Given the description of an element on the screen output the (x, y) to click on. 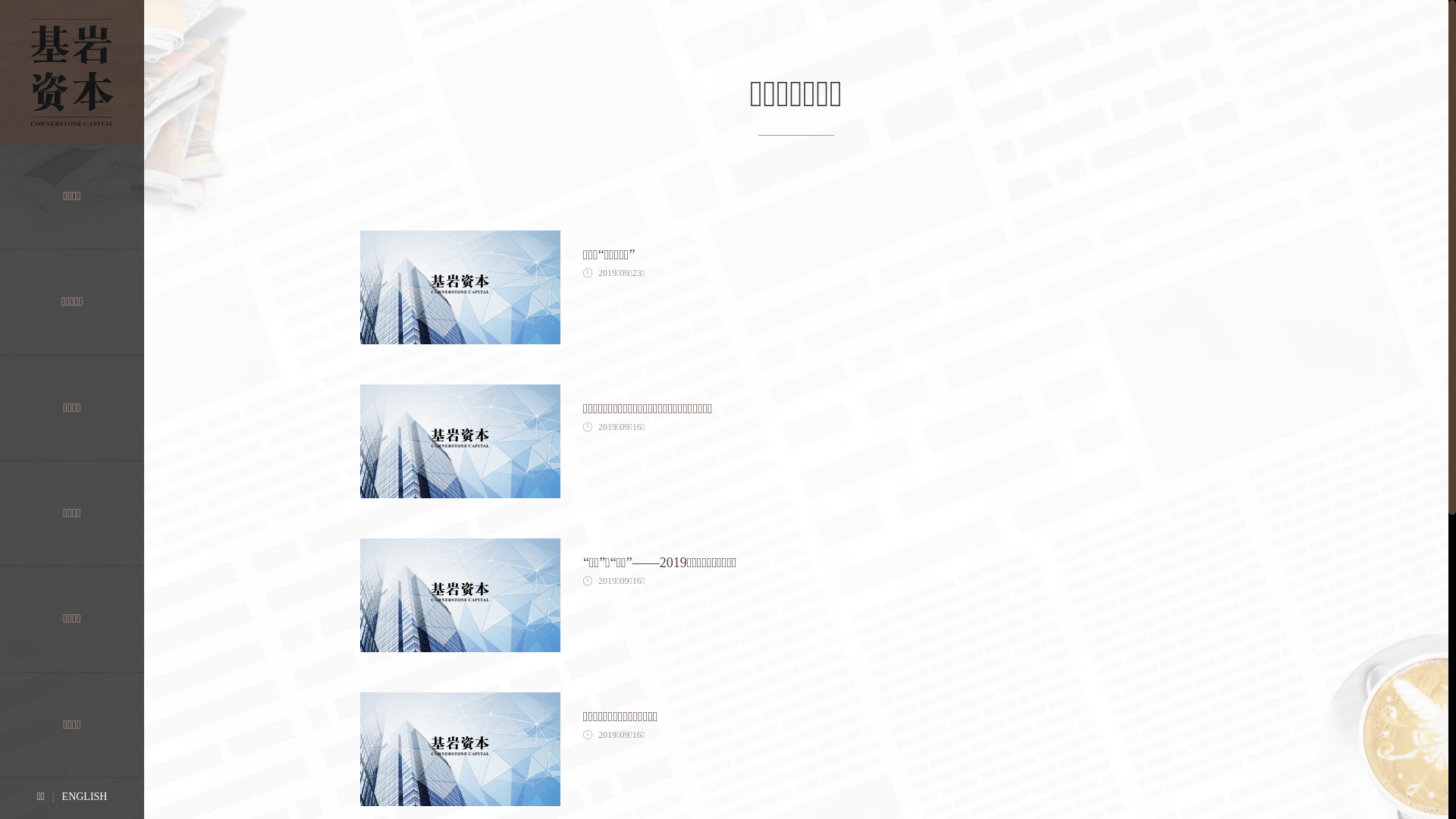
  Element type: text (815, 596)
  Element type: text (815, 288)
ENGLISH Element type: text (84, 796)
  Element type: text (815, 442)
www.szhzct.cn Element type: text (1405, 807)
